Given the description of an element on the screen output the (x, y) to click on. 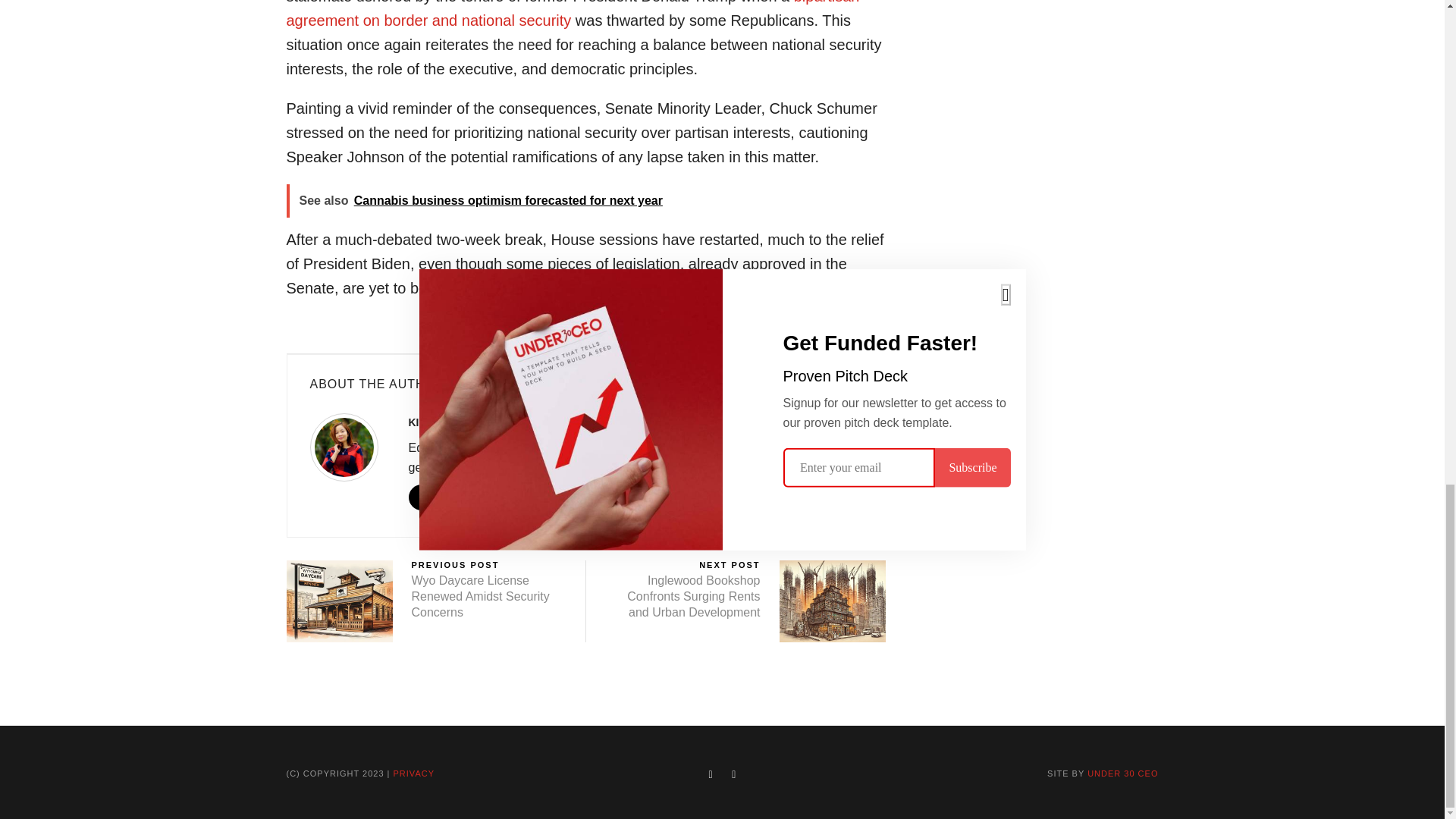
Posts by Kimberly Zhang (454, 422)
Visit Author Page (350, 451)
Linkedin (451, 497)
Kimberly Zhang 's site (420, 497)
